Given the description of an element on the screen output the (x, y) to click on. 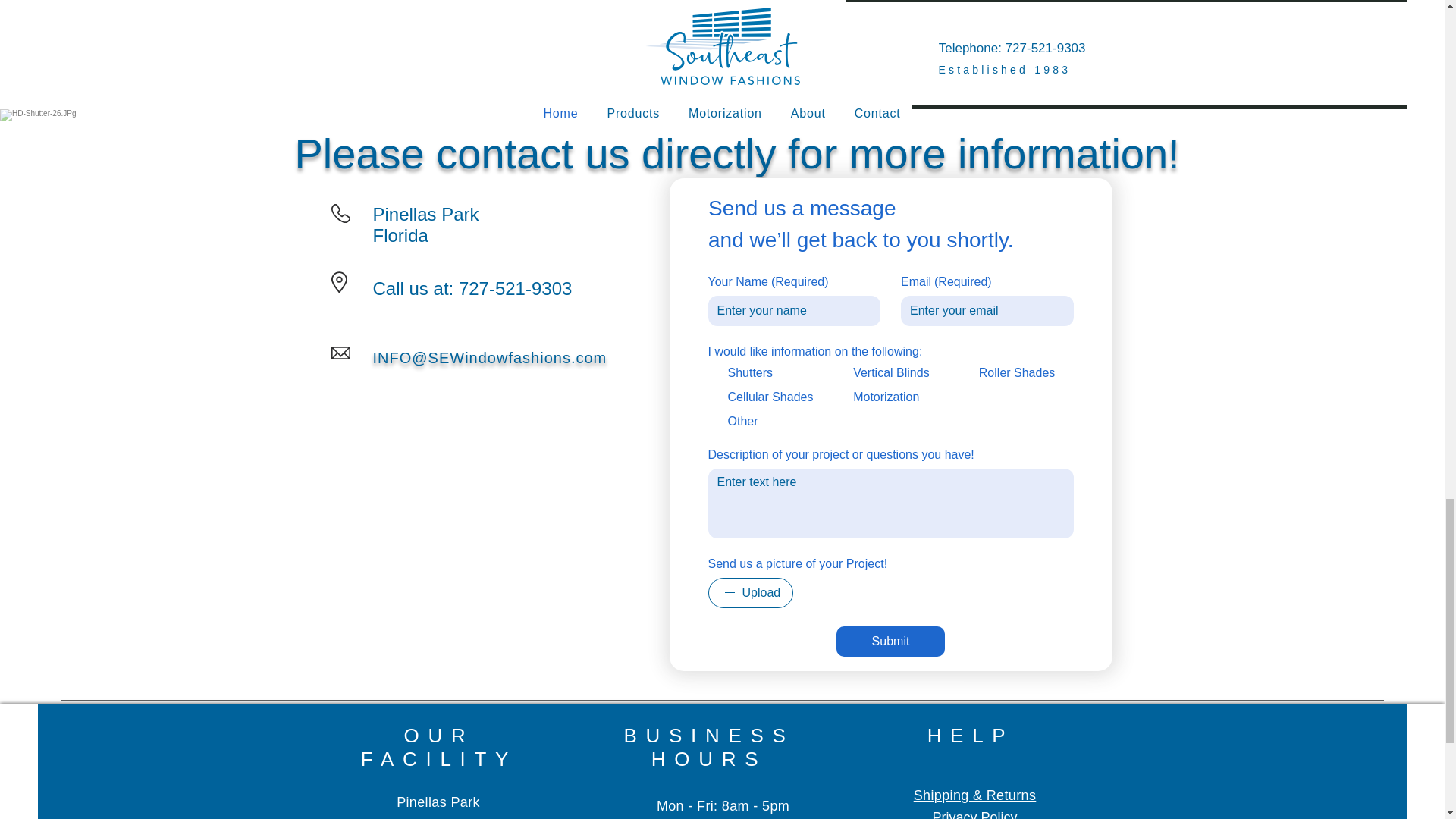
Privacy Policy (973, 814)
Submit (889, 641)
Upload (750, 593)
